Given the description of an element on the screen output the (x, y) to click on. 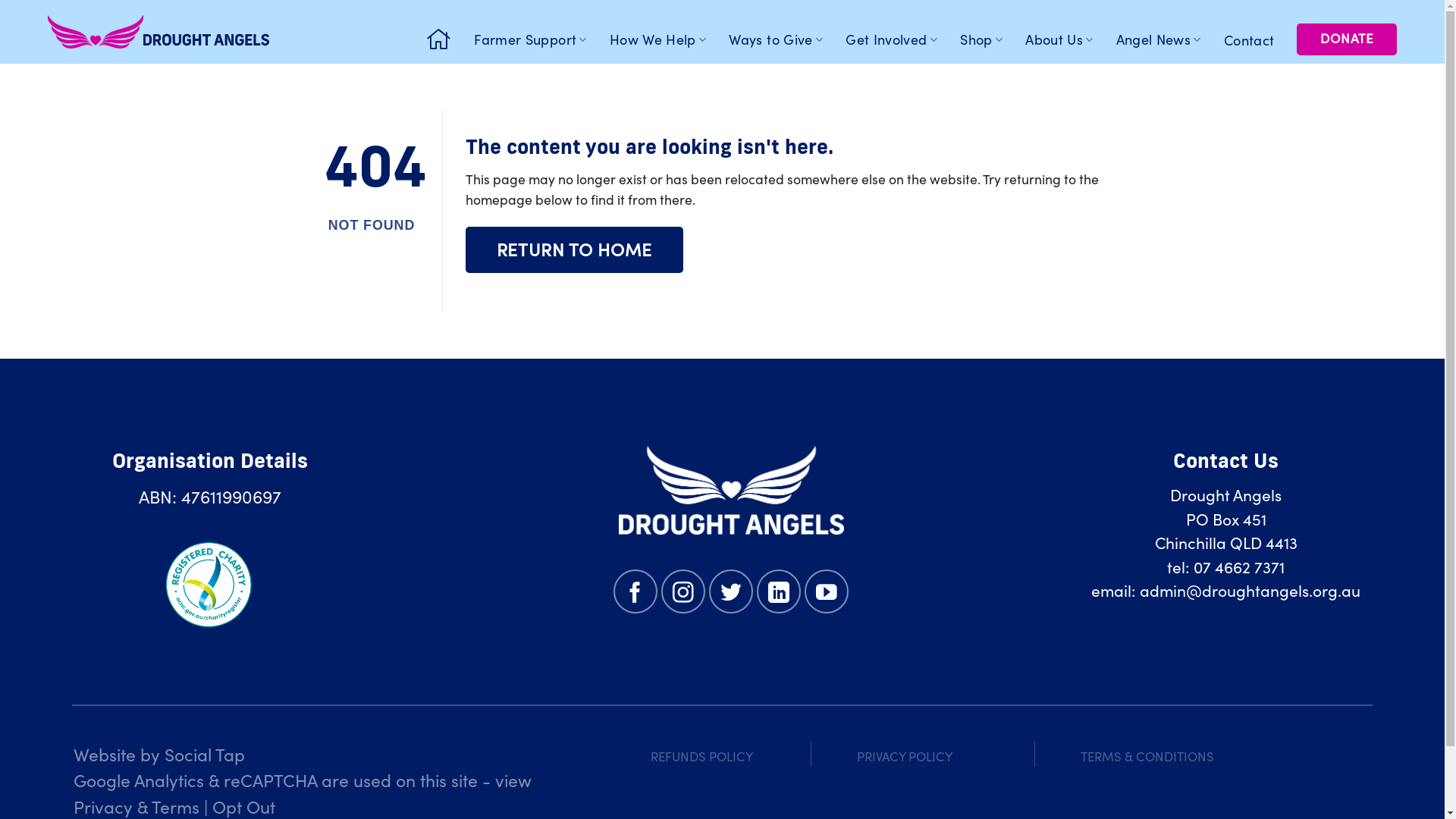
Contact Element type: text (1254, 39)
Follow on Instagram Element type: hover (683, 591)
PRIVACY POLICY Element type: text (904, 755)
07 4662 7371 Element type: text (1238, 566)
How We Help Element type: text (663, 39)
Opt Out Element type: text (243, 805)
Follow on LinkedIn Element type: hover (778, 591)
Skip to content Element type: text (0, 0)
Follow on Facebook Element type: hover (635, 591)
Follow on Twitter Element type: hover (731, 591)
Follow on YouTube Element type: hover (826, 591)
Social Tap Element type: text (204, 753)
RETURN TO HOME Element type: text (574, 249)
About Us Element type: text (1064, 39)
Drought Angels Element type: hover (158, 31)
REFUNDS POLICY Element type: text (701, 755)
Ways to Give Element type: text (781, 39)
Shop Element type: text (987, 39)
Get Involved Element type: text (897, 39)
Privacy & Terms Element type: text (136, 805)
admin@droughtangels.org.au Element type: text (1249, 589)
Farmer Support Element type: text (536, 39)
TERMS & CONDITIONS Element type: text (1147, 755)
DONATE Element type: text (1346, 39)
Angel News Element type: text (1164, 39)
